Given the description of an element on the screen output the (x, y) to click on. 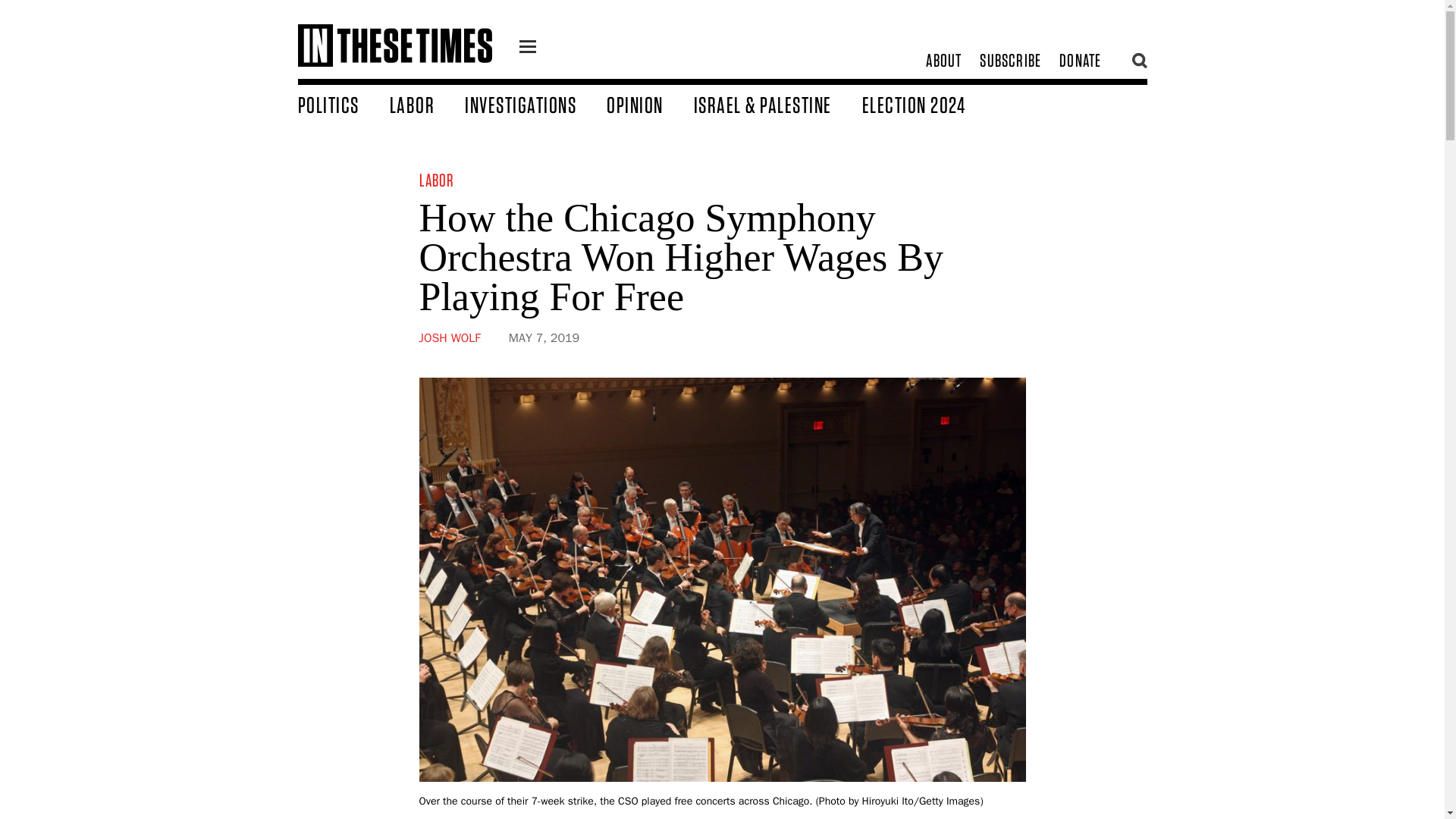
OPINION (650, 103)
INVESTIGATIONS (535, 103)
LABOR (427, 103)
POLITICS (342, 103)
JOSH WOLF (449, 337)
LABOR (436, 179)
ABOUT (944, 60)
DONATE (1079, 60)
ELECTION 2024 (928, 103)
SUBSCRIBE (1010, 60)
